Given the description of an element on the screen output the (x, y) to click on. 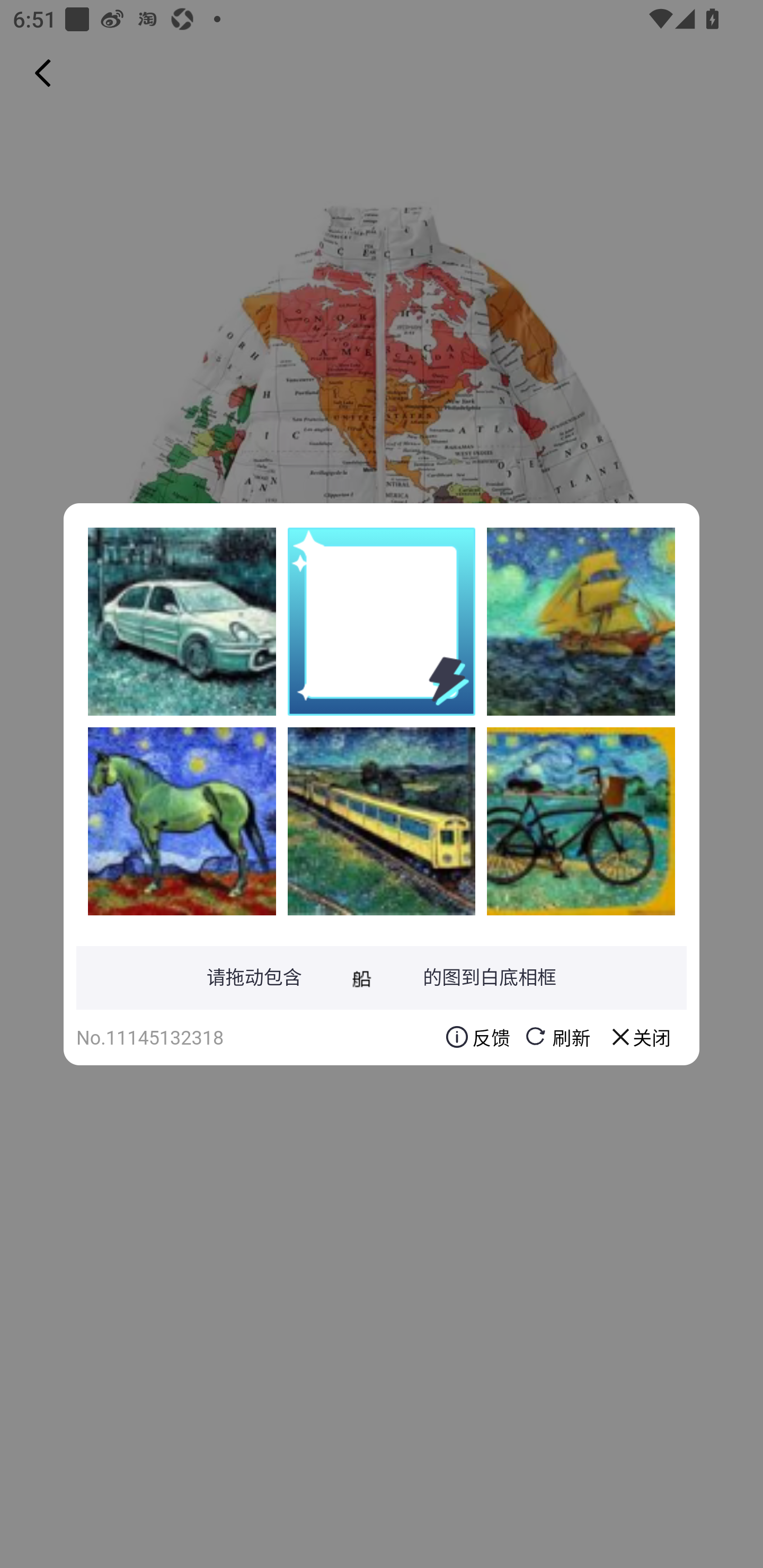
SluJPgP12ow332a67QoLnVcErBusdt1gqeMa822XmWm9wHTzJW (580, 621)
